Given the description of an element on the screen output the (x, y) to click on. 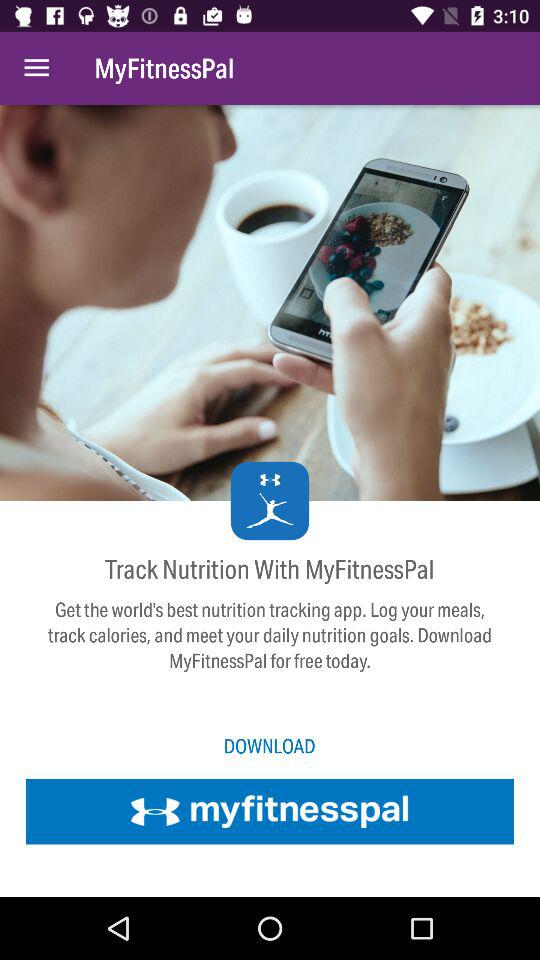
press the item below download icon (269, 811)
